Given the description of an element on the screen output the (x, y) to click on. 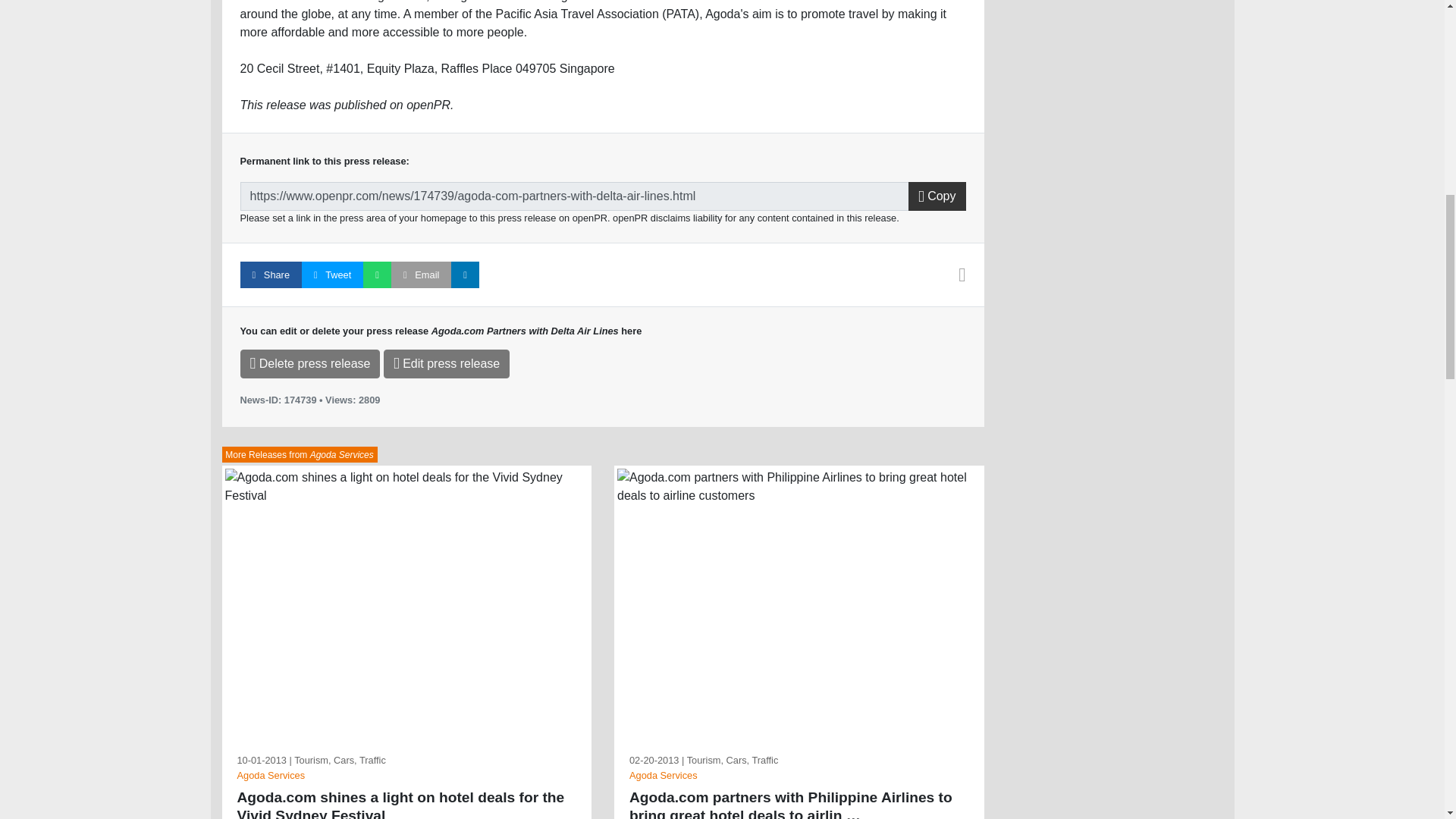
Tourism, Cars, Traffic (339, 759)
WhatsApp (376, 274)
LinkedIn (465, 274)
Email (421, 274)
Permalink (574, 195)
Tourism, Cars, Traffic (732, 759)
Facebook (270, 274)
